Given the description of an element on the screen output the (x, y) to click on. 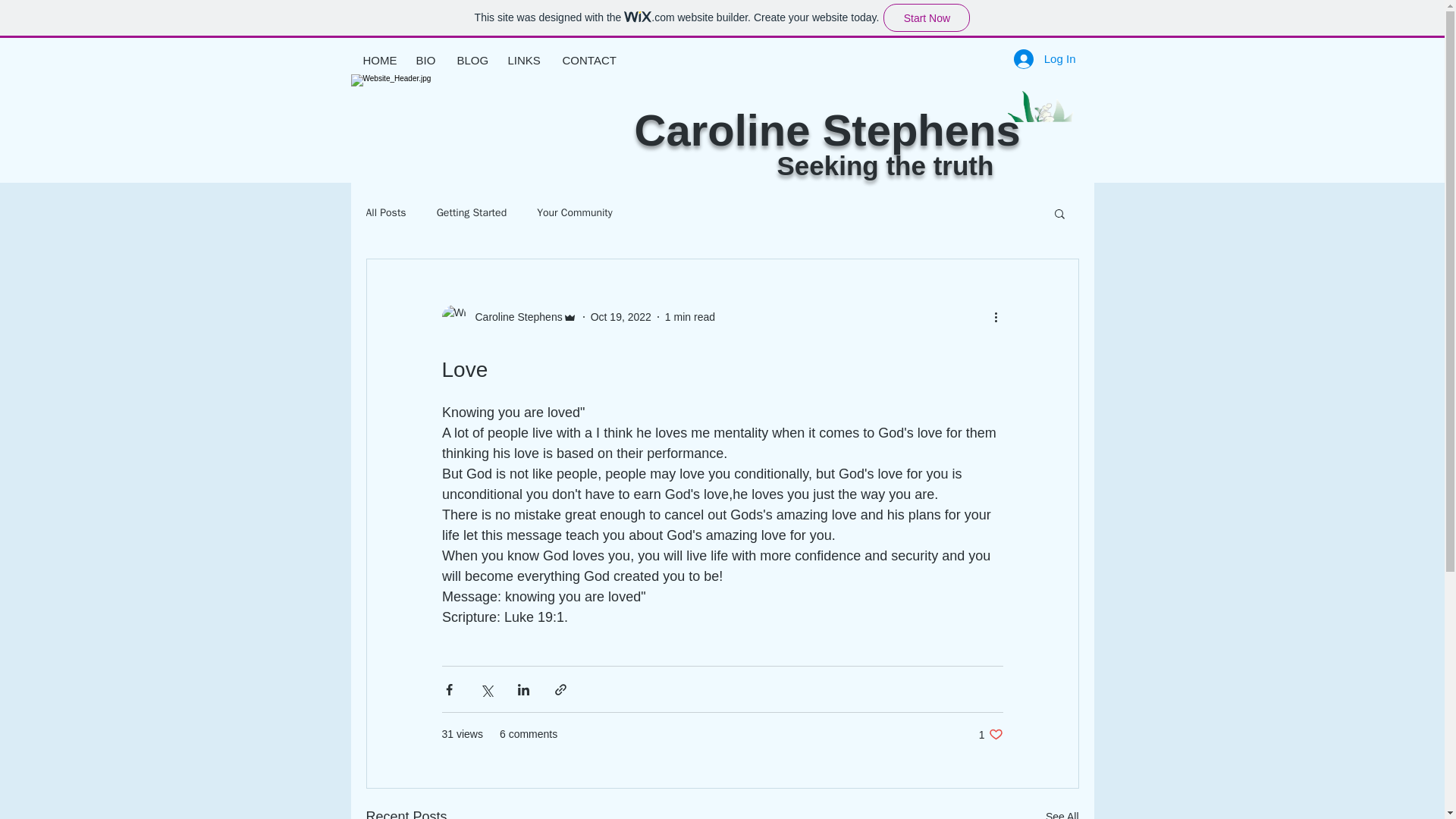
See All (1061, 812)
Caroline Stephens (508, 316)
Log In (1044, 58)
All Posts (385, 213)
HOME (376, 60)
CONTACT (584, 60)
Getting Started (471, 213)
Your Community (574, 213)
Caroline Stephens (513, 317)
BIO (423, 60)
BLOG (469, 60)
Oct 19, 2022 (620, 316)
LINKS (523, 60)
1 min read (990, 734)
